Given the description of an element on the screen output the (x, y) to click on. 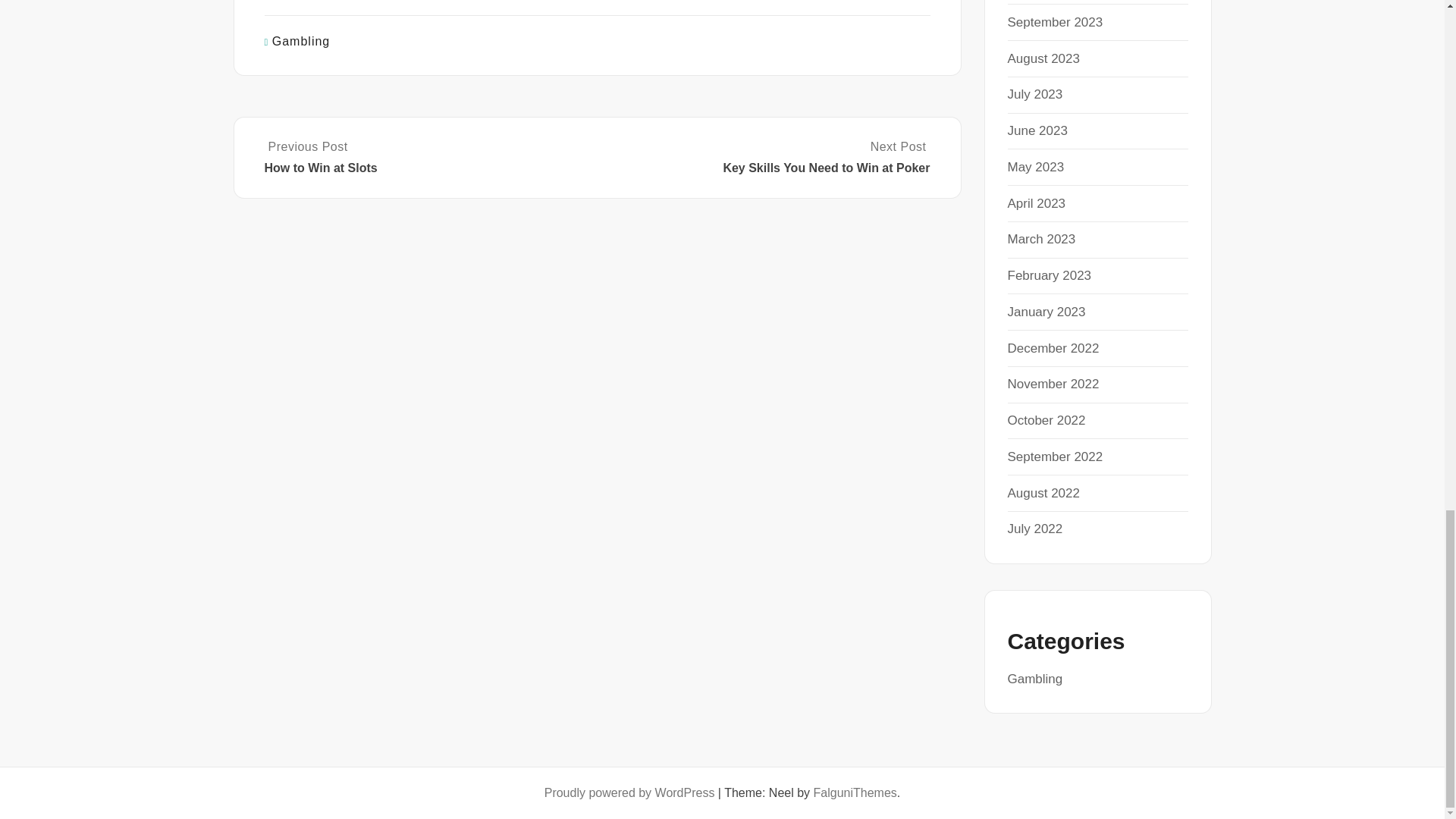
April 2023 (1036, 203)
June 2023 (1037, 130)
July 2023 (1034, 93)
August 2023 (1042, 58)
September 2023 (1054, 22)
Gambling (301, 41)
May 2023 (1035, 166)
March 2023 (1041, 238)
